Given the description of an element on the screen output the (x, y) to click on. 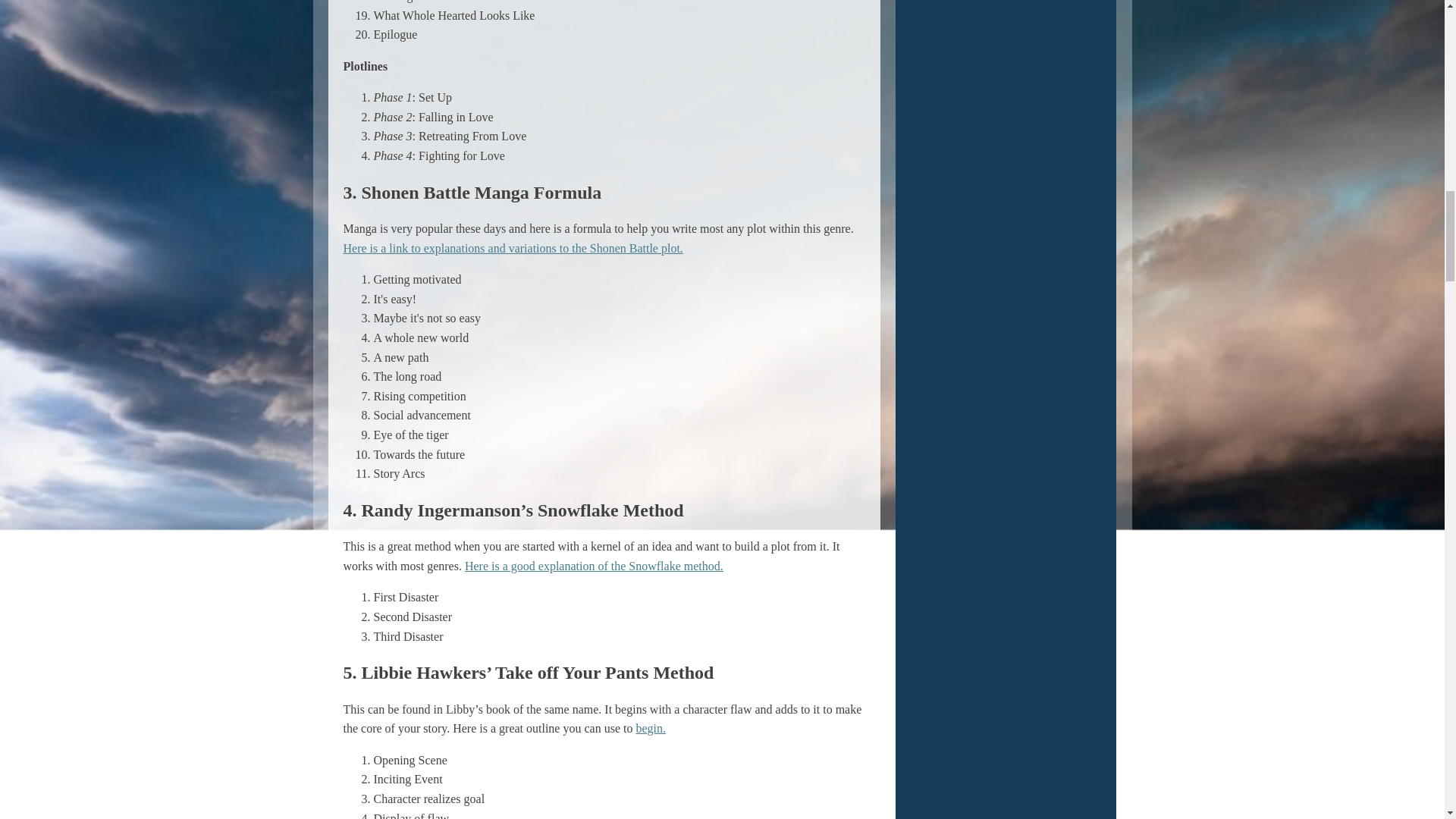
begin. (649, 727)
Here is a good explanation of the Snowflake method. (593, 565)
